Given the description of an element on the screen output the (x, y) to click on. 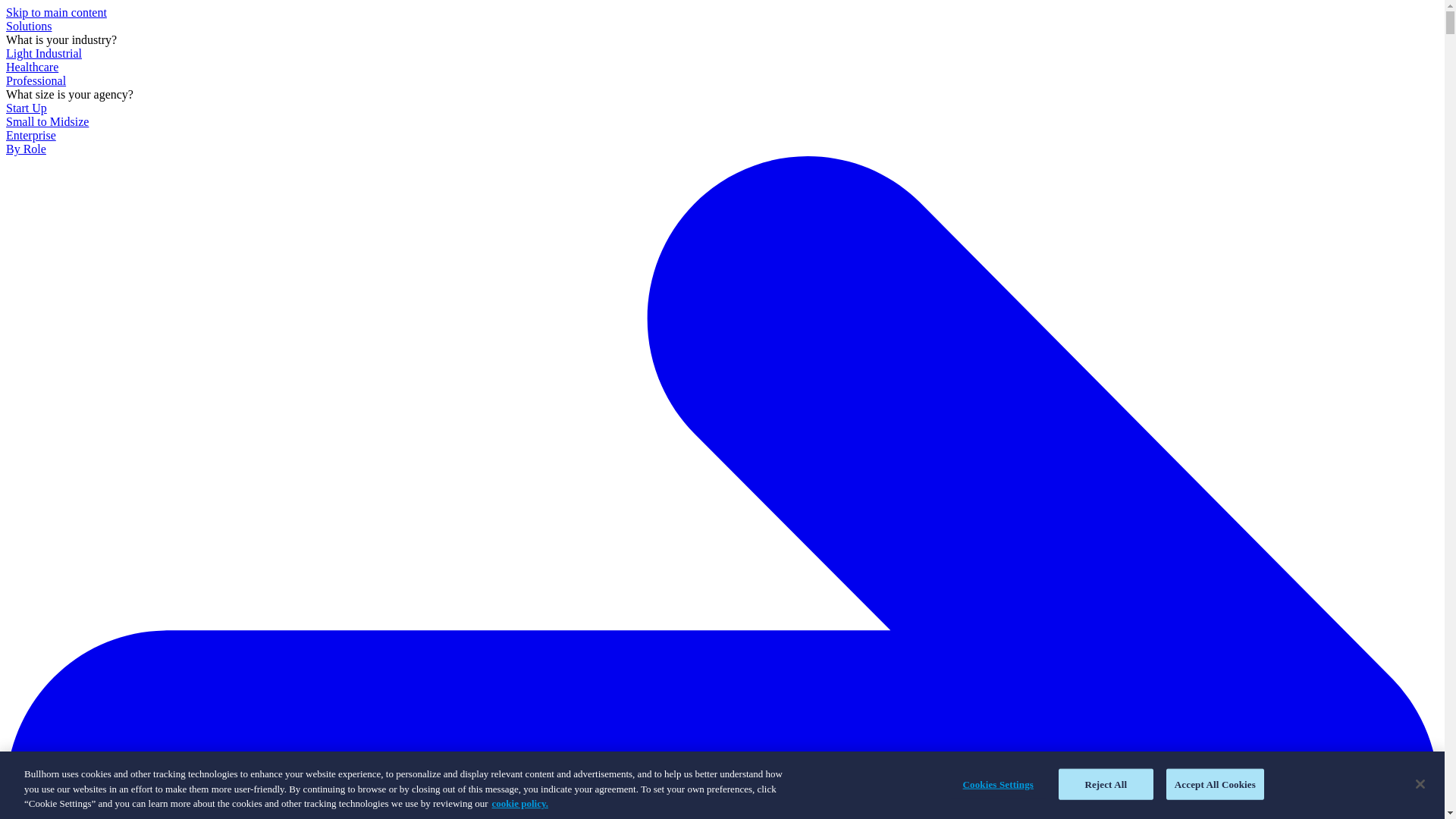
Small to Midsize (46, 121)
Skip to main content (55, 11)
Solutions (27, 25)
Healthcare (31, 66)
Light Industrial (43, 52)
Enterprise (30, 134)
Start Up (25, 107)
Professional (35, 80)
